Given the description of an element on the screen output the (x, y) to click on. 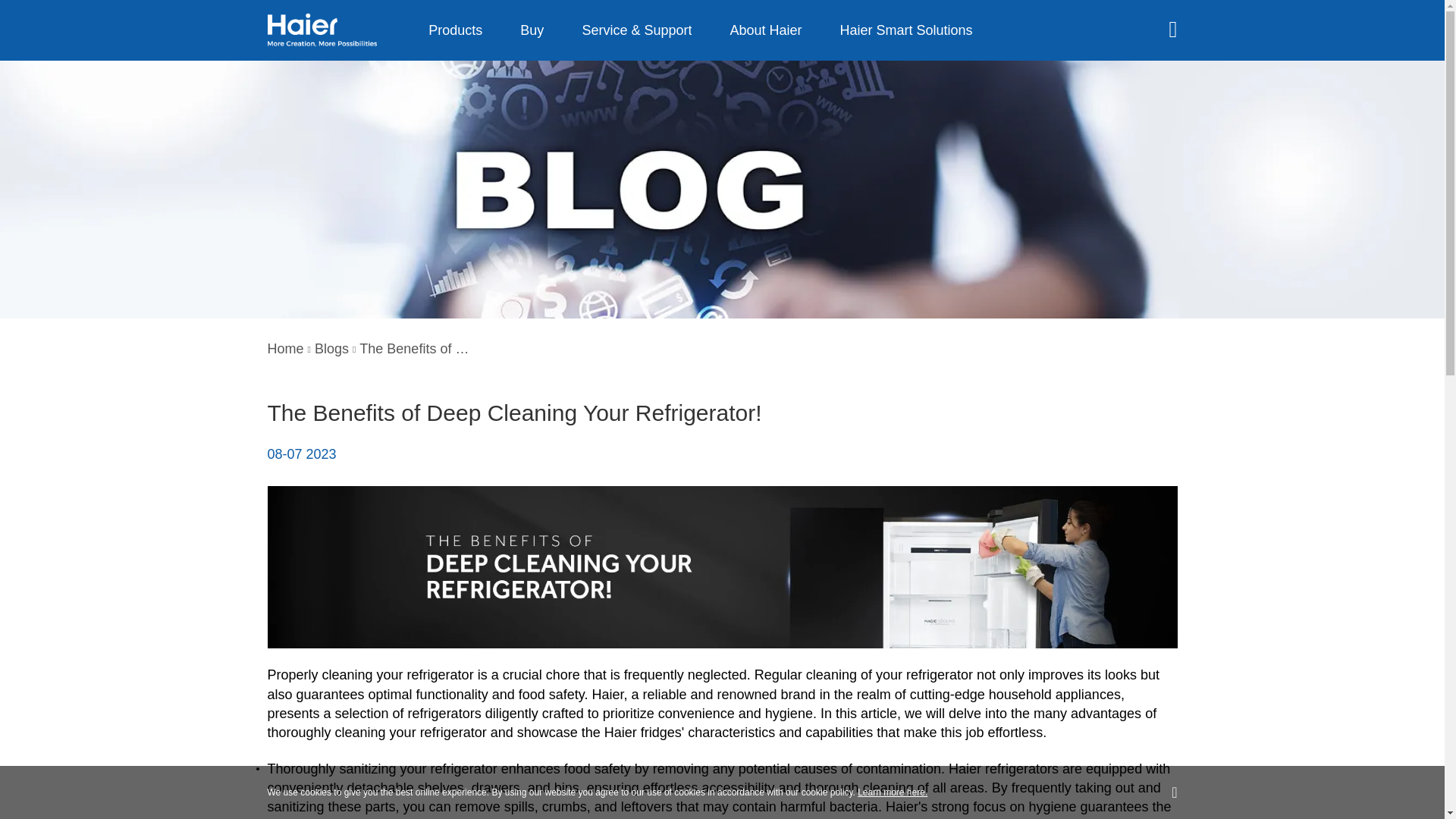
Blogs (331, 348)
Products (455, 30)
About Haier (765, 30)
Haier Smart Solutions (906, 30)
Home (284, 348)
Learn more here. (892, 792)
